Given the description of an element on the screen output the (x, y) to click on. 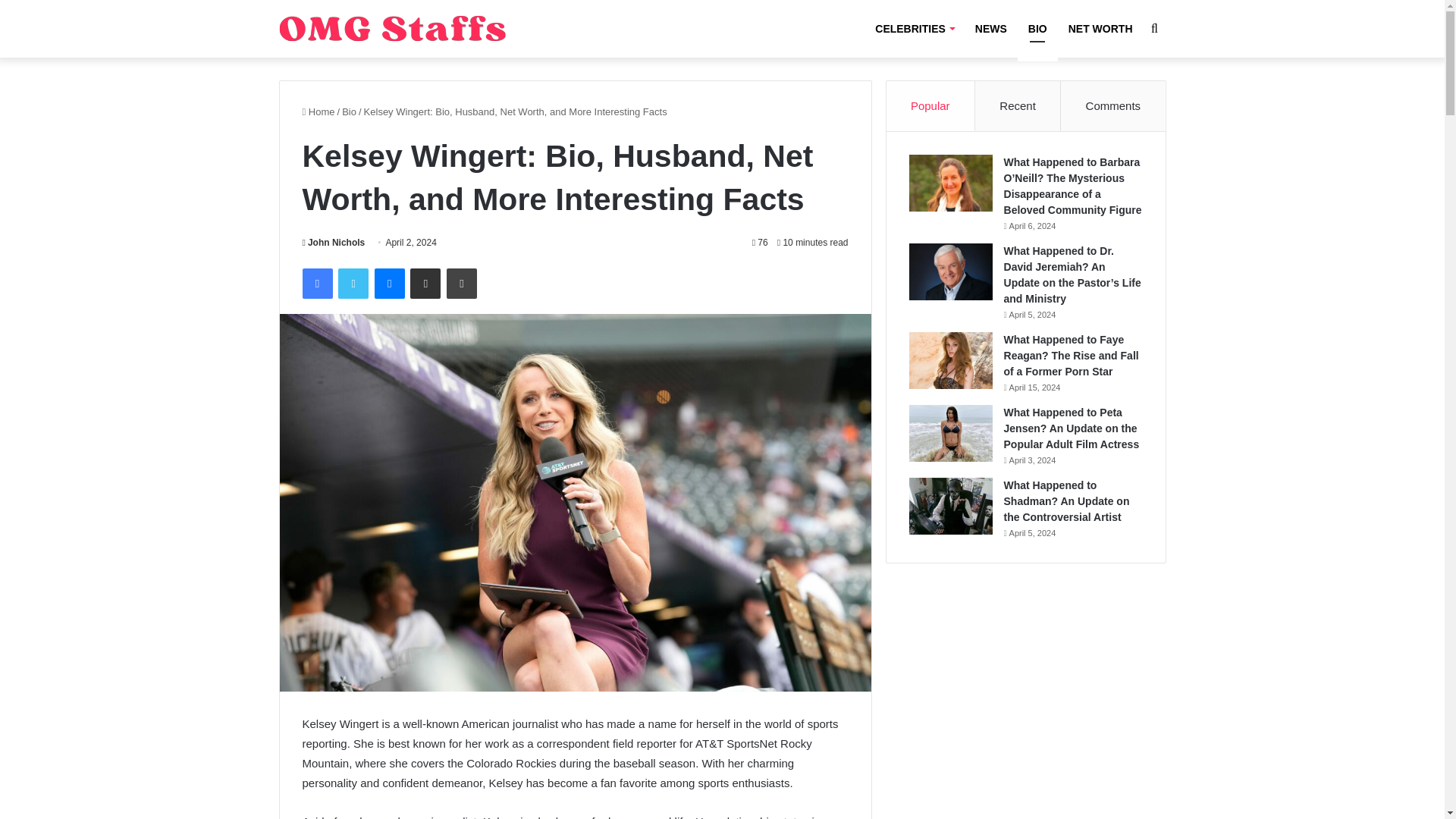
Print (461, 283)
Twitter (352, 283)
NET WORTH (1100, 28)
Home (317, 111)
Facebook (316, 283)
OMG Staffs (392, 28)
John Nichols (333, 242)
Share via Email (425, 283)
Twitter (352, 283)
Share via Email (425, 283)
